Given the description of an element on the screen output the (x, y) to click on. 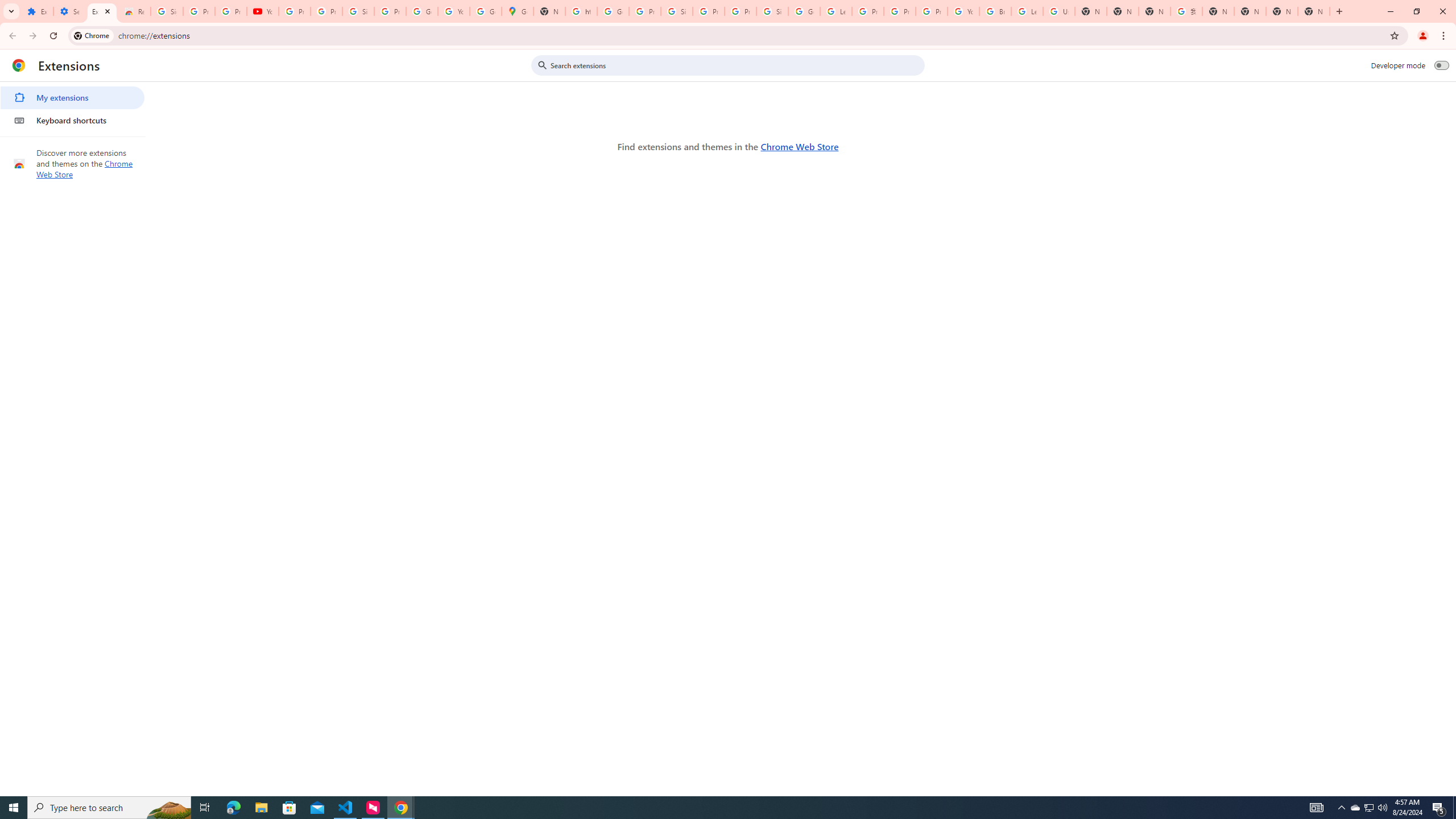
Extensions (37, 11)
Extensions (101, 11)
Keyboard shortcuts (72, 119)
Browse Chrome as a guest - Computer - Google Chrome Help (995, 11)
Settings (69, 11)
